Given the description of an element on the screen output the (x, y) to click on. 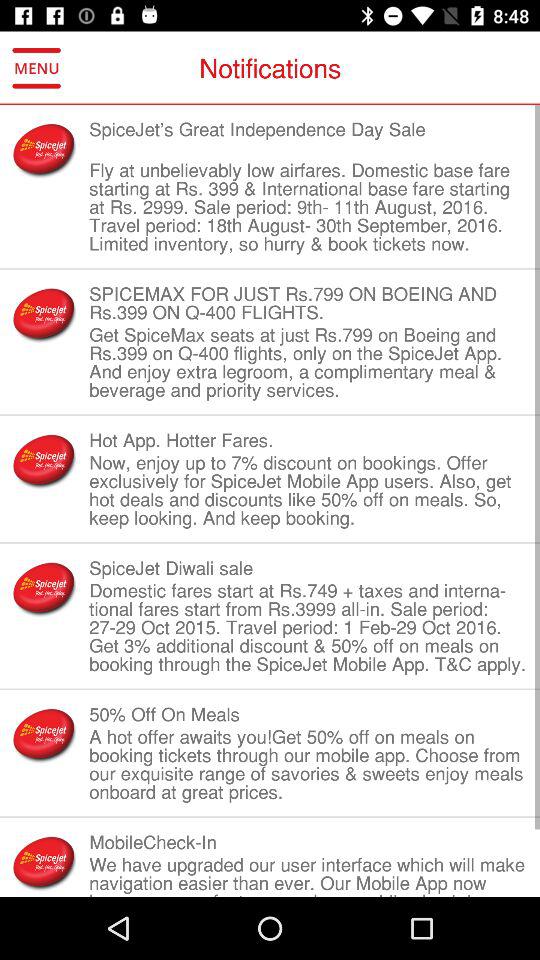
jump until the spicejet diwali sale (307, 567)
